Given the description of an element on the screen output the (x, y) to click on. 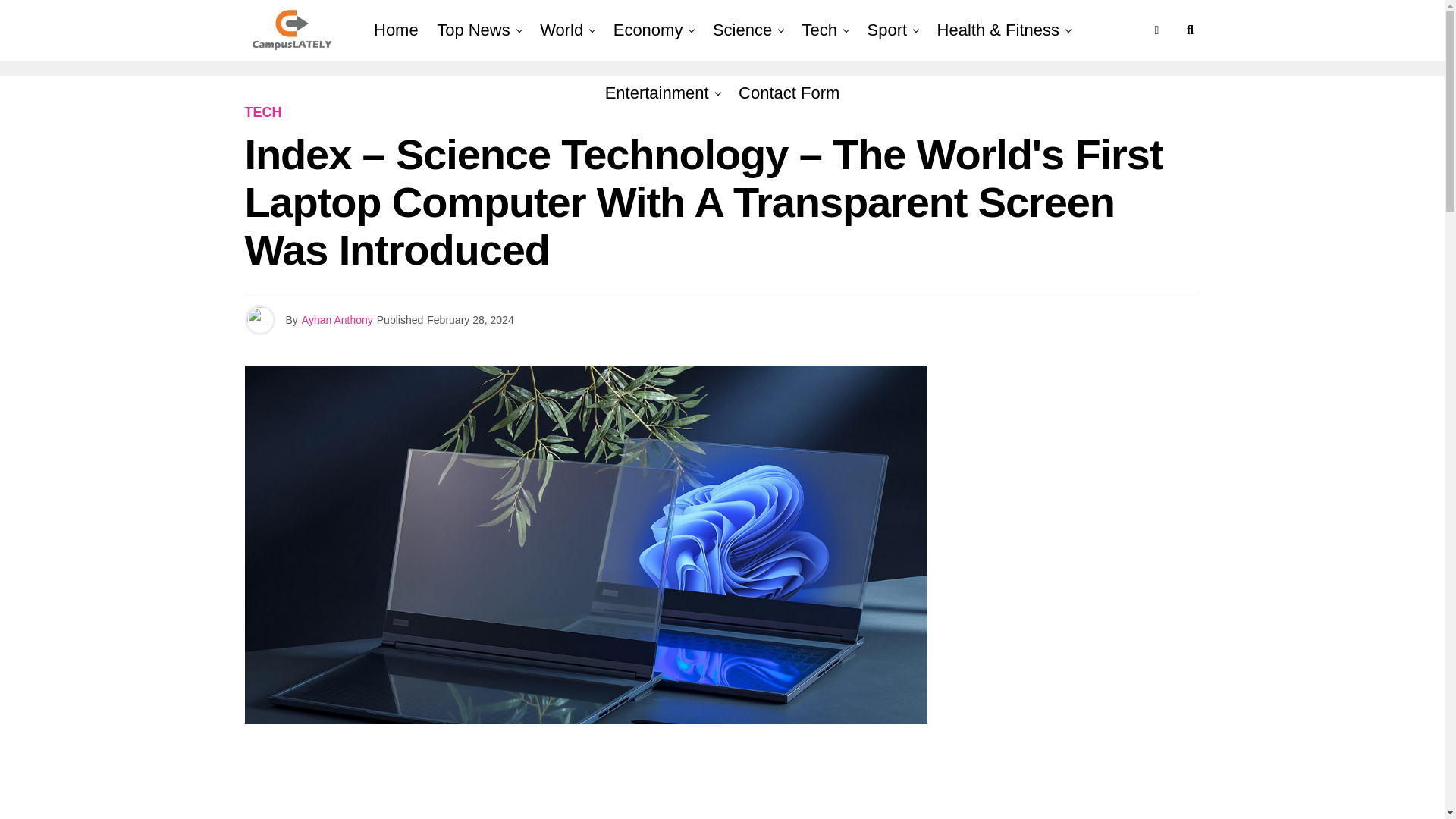
World (561, 30)
Science (741, 30)
Home (396, 30)
Sport (887, 30)
Economy (647, 30)
Top News (473, 30)
